Given the description of an element on the screen output the (x, y) to click on. 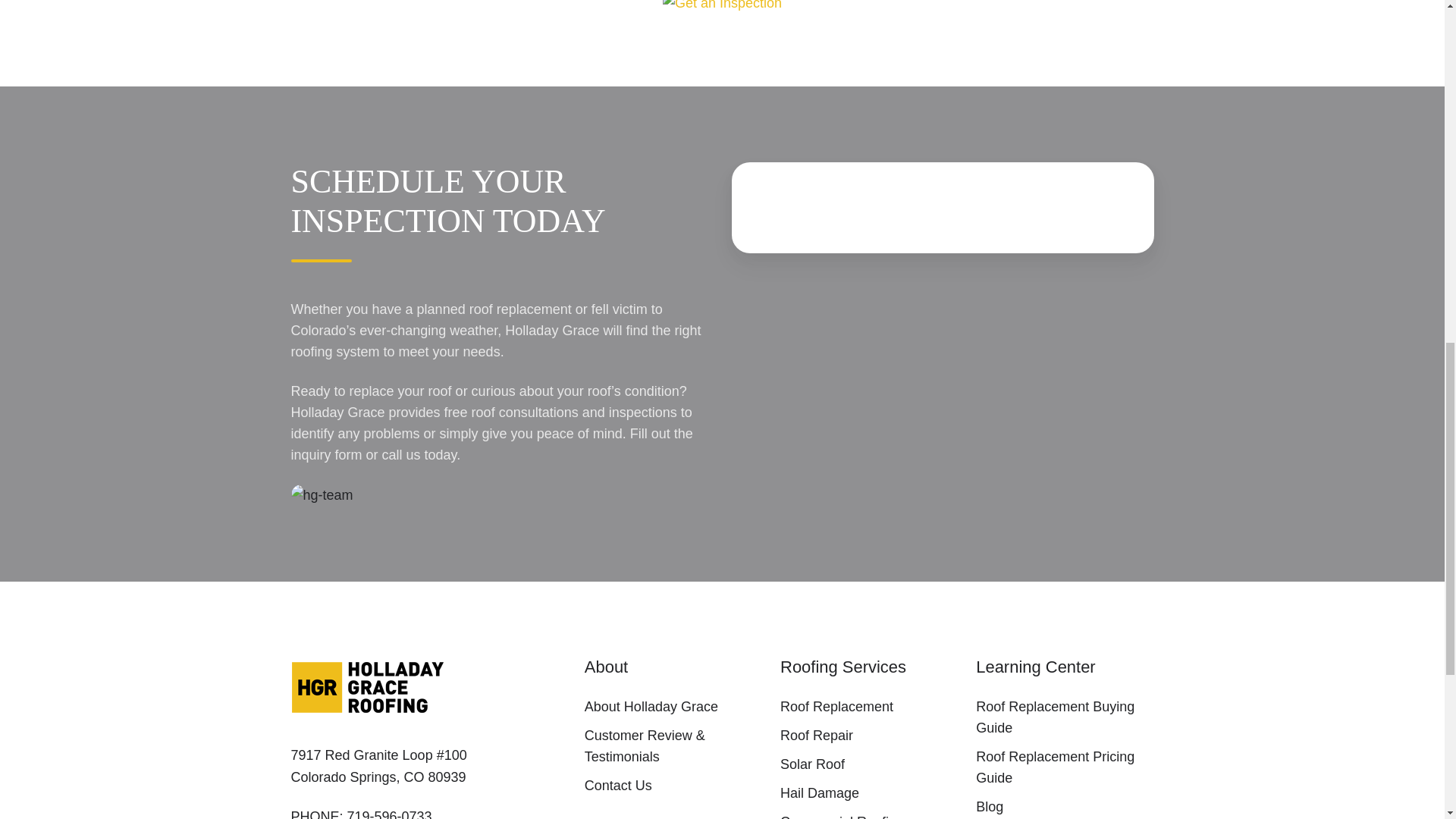
holladay-grace-roofing (368, 687)
